Given the description of an element on the screen output the (x, y) to click on. 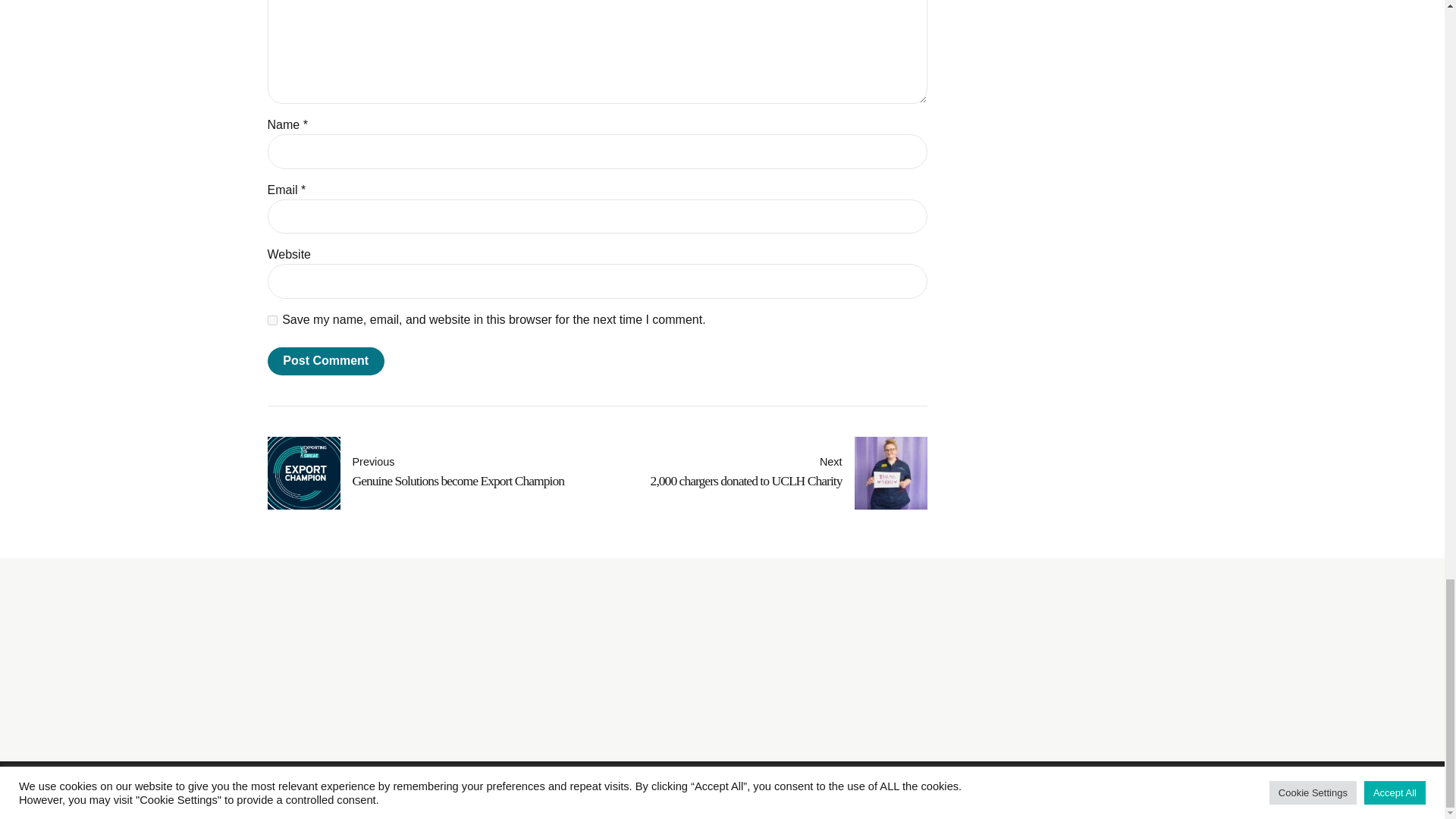
yes (271, 320)
